Given the description of an element on the screen output the (x, y) to click on. 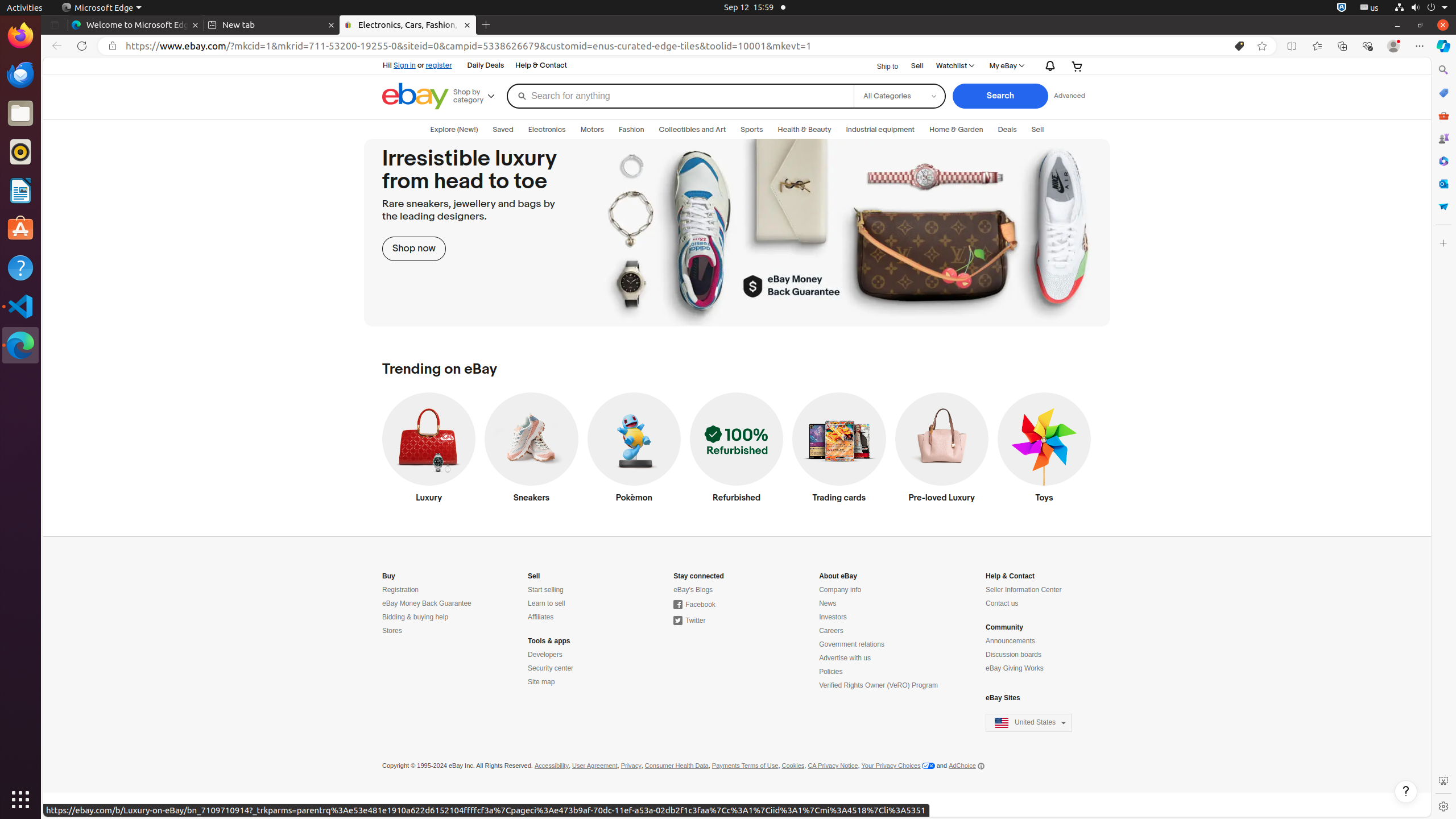
Policies Element type: link (830, 671)
Sports Element type: link (751, 129)
Verified Rights Owner (VeRO) Program Element type: link (878, 685)
New tab Element type: page-tab (271, 25)
Electronics Element type: link (546, 129)
